Given the description of an element on the screen output the (x, y) to click on. 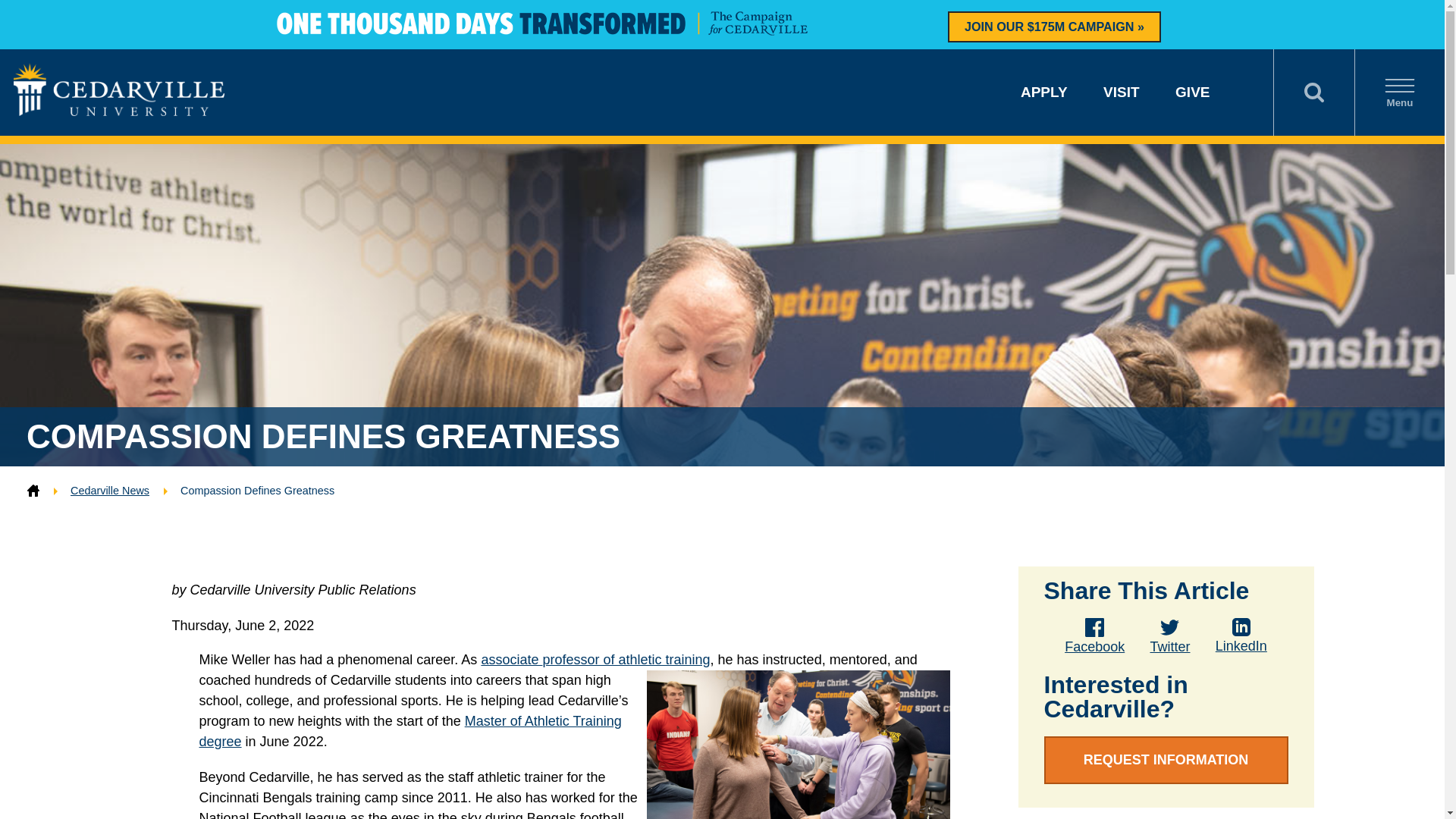
GIVE (1191, 91)
VISIT (1121, 91)
APPLY (1043, 91)
